Given the description of an element on the screen output the (x, y) to click on. 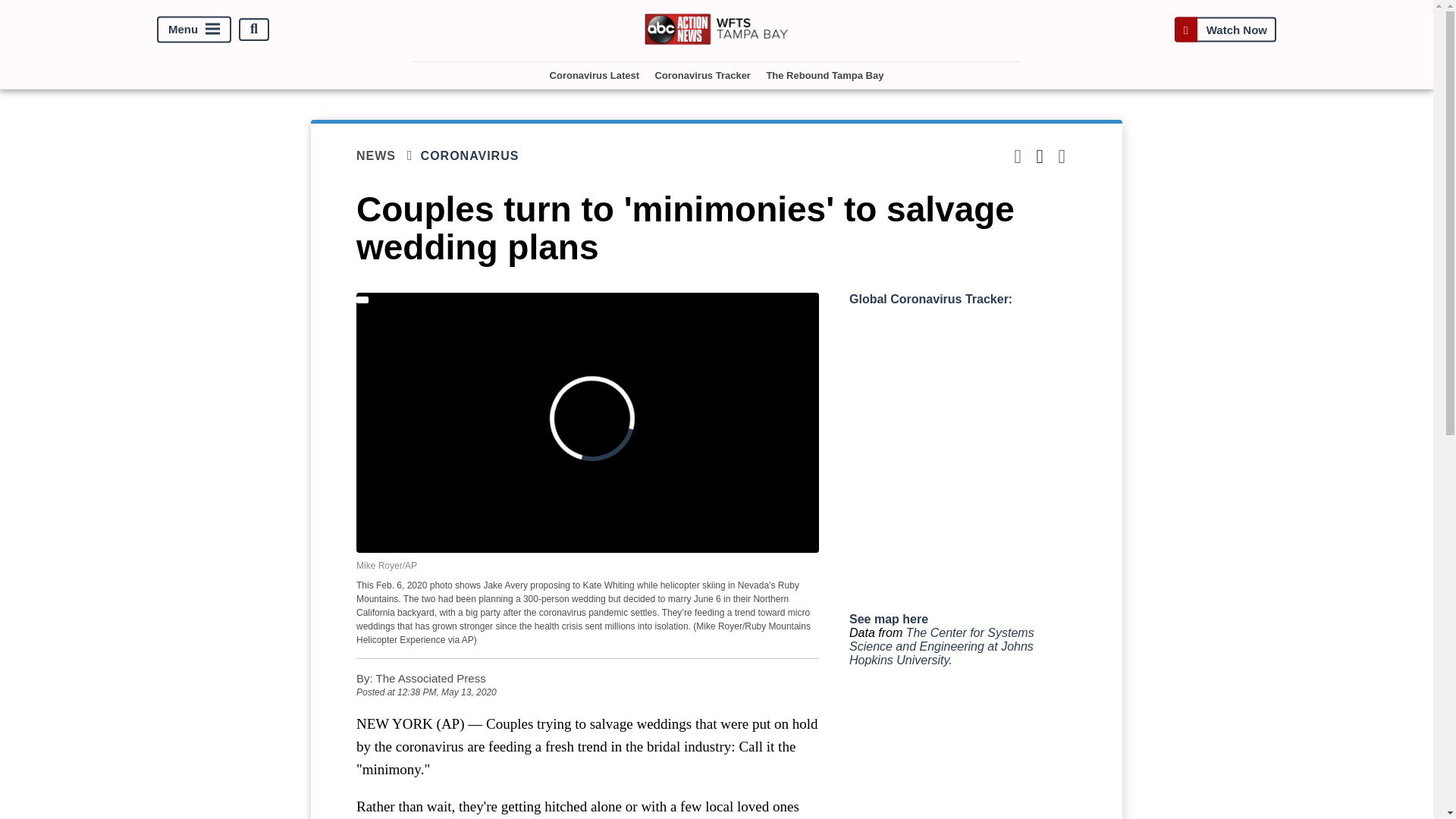
Watch Now (1224, 29)
Menu (194, 28)
